Given the description of an element on the screen output the (x, y) to click on. 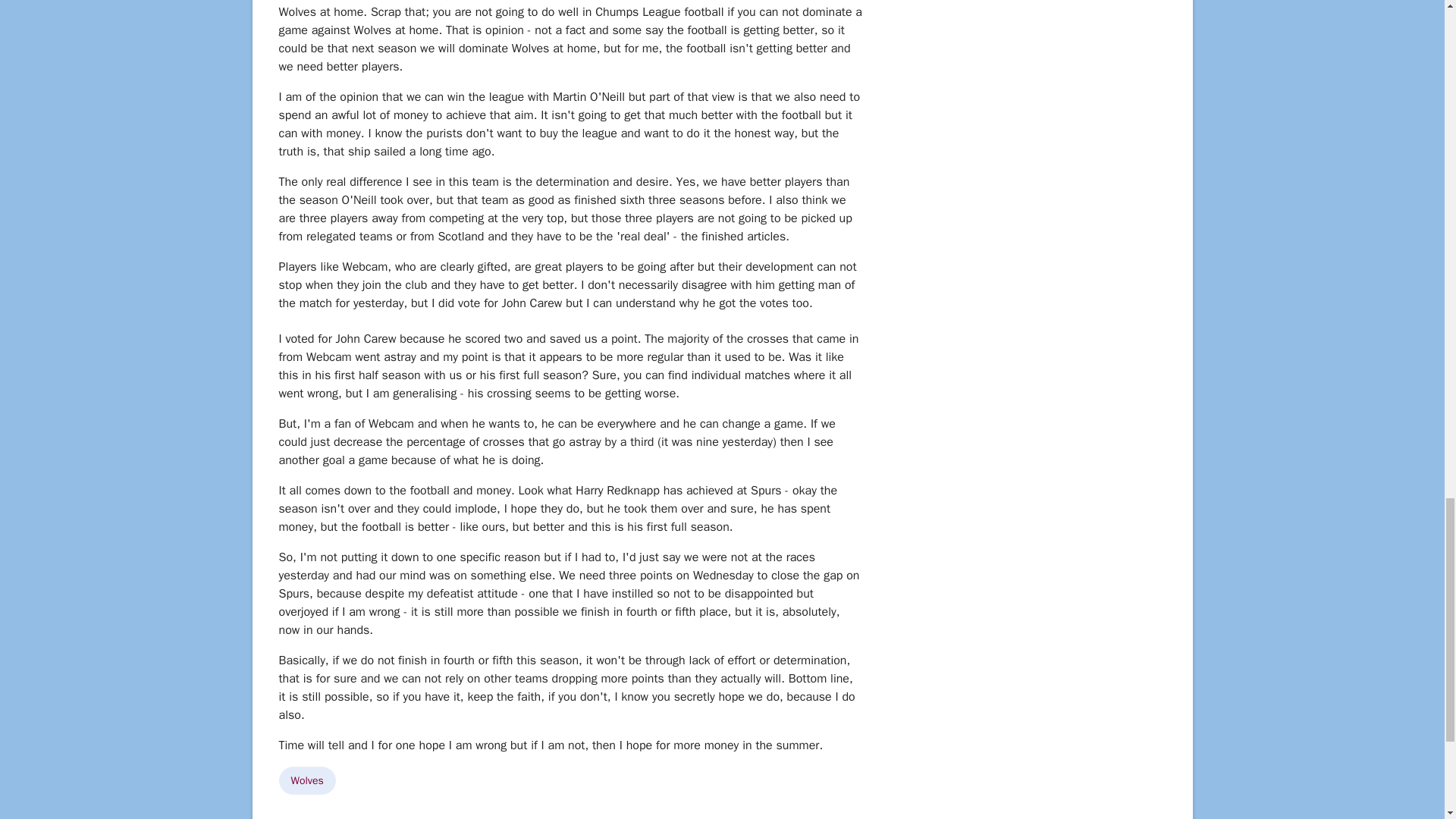
Wolves (307, 780)
